Given the description of an element on the screen output the (x, y) to click on. 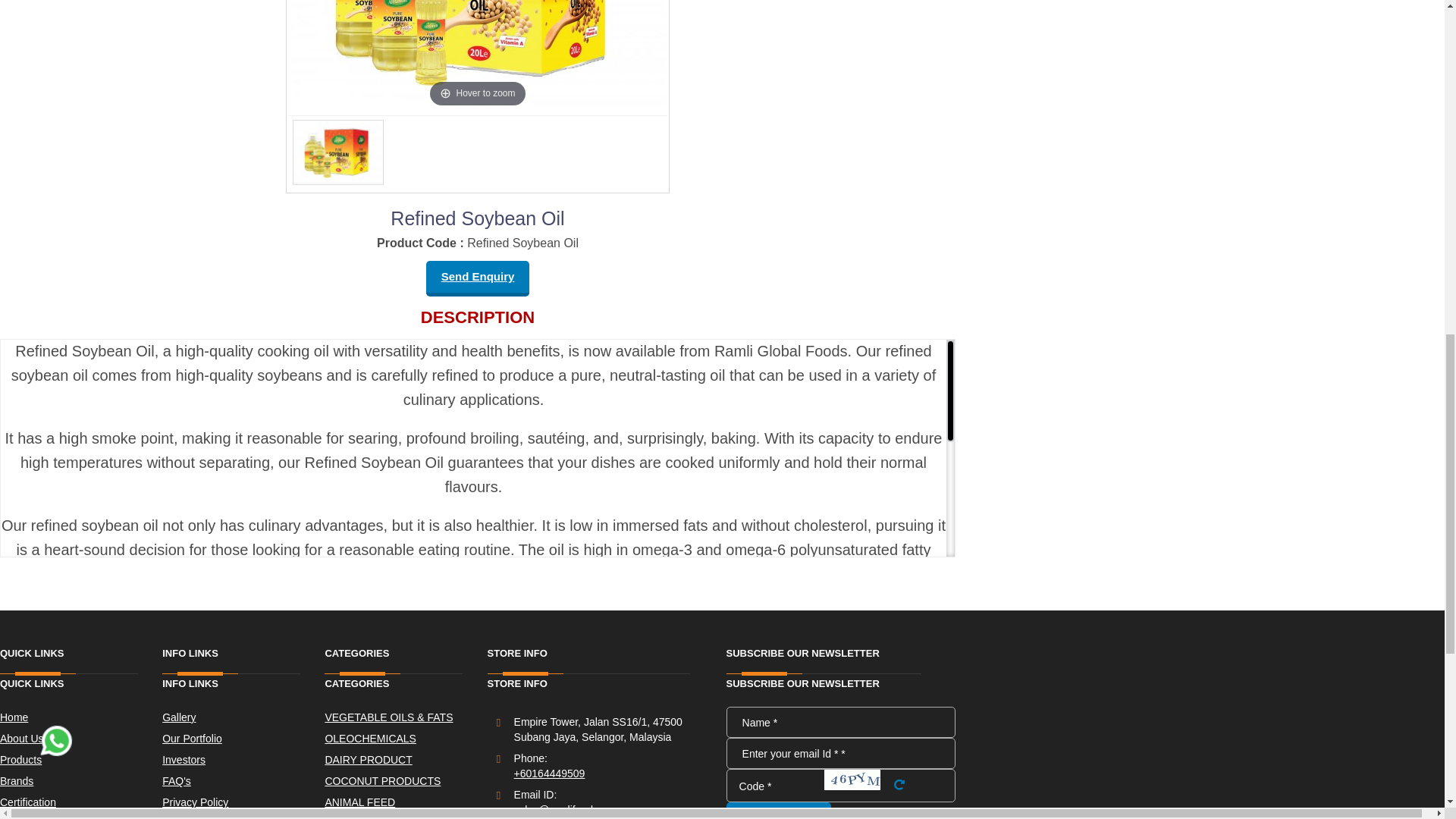
Home (80, 717)
Send Enquiry (477, 278)
About Us (80, 738)
Products (80, 759)
Hover to zoom (477, 55)
Ramli Global Foods (580, 613)
Refined Soybean Oil Suppliers (387, 700)
